Given the description of an element on the screen output the (x, y) to click on. 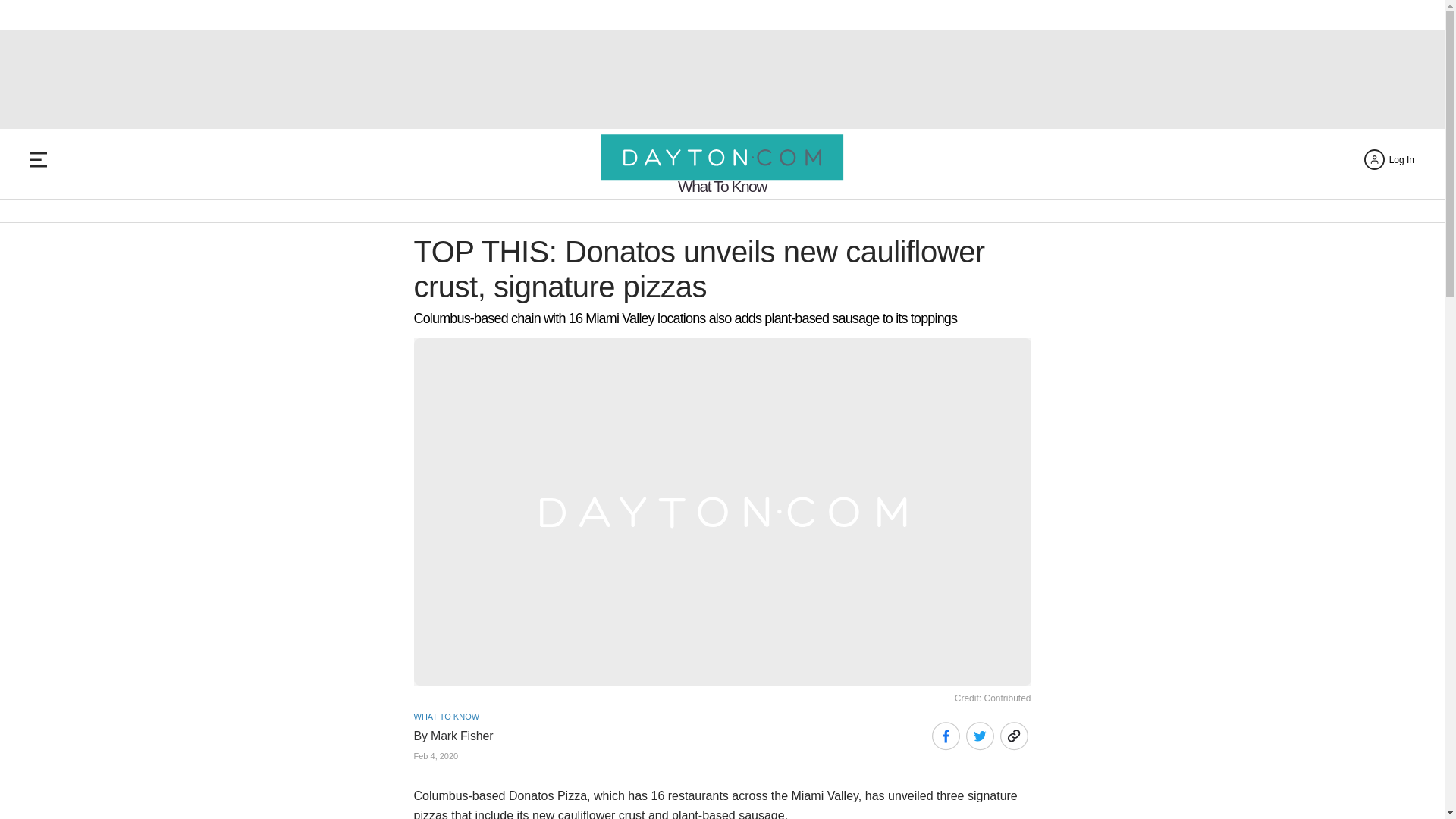
WHAT TO KNOW (446, 716)
What To Know (722, 186)
